Given the description of an element on the screen output the (x, y) to click on. 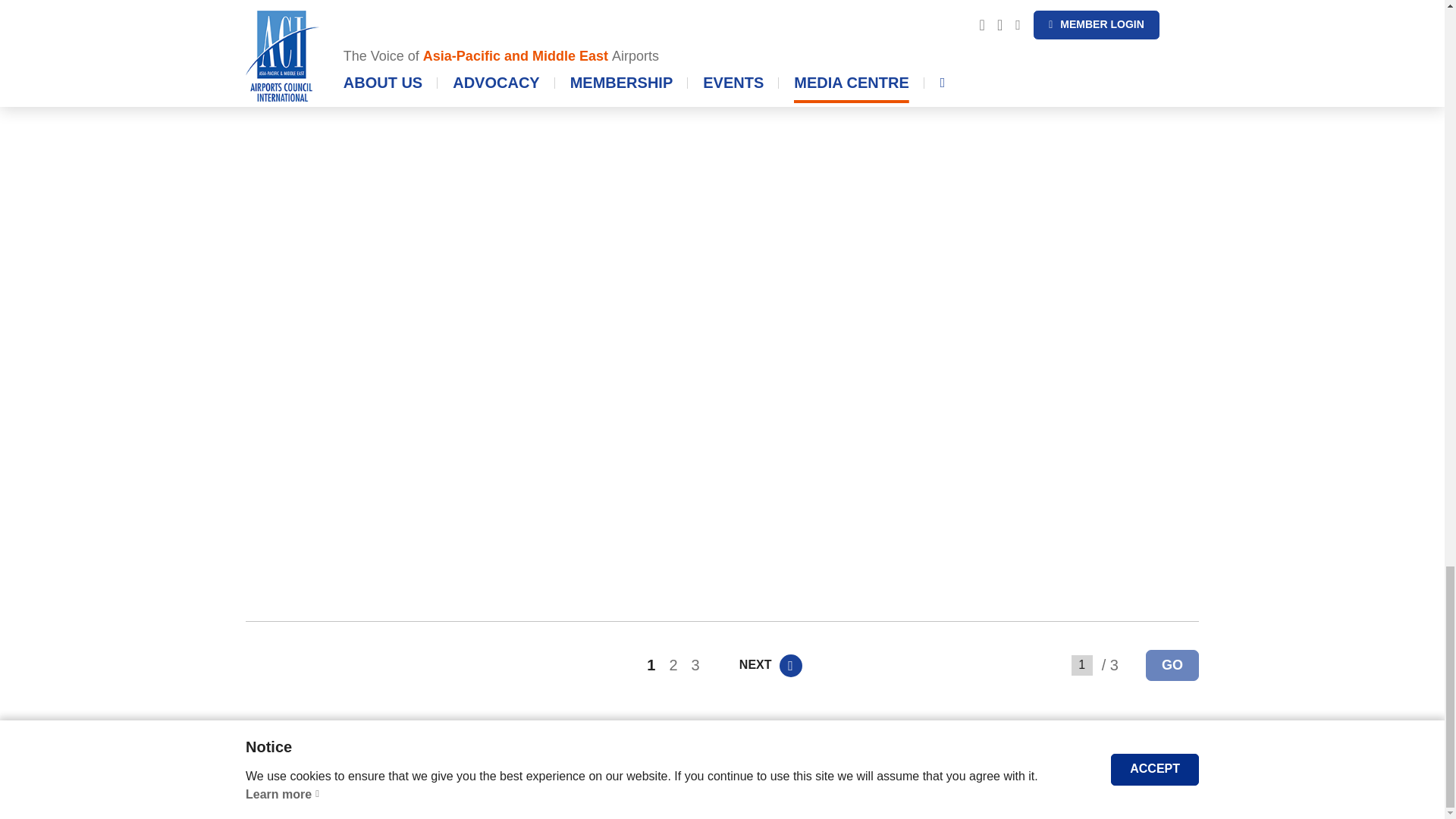
1 (1082, 665)
